Given the description of an element on the screen output the (x, y) to click on. 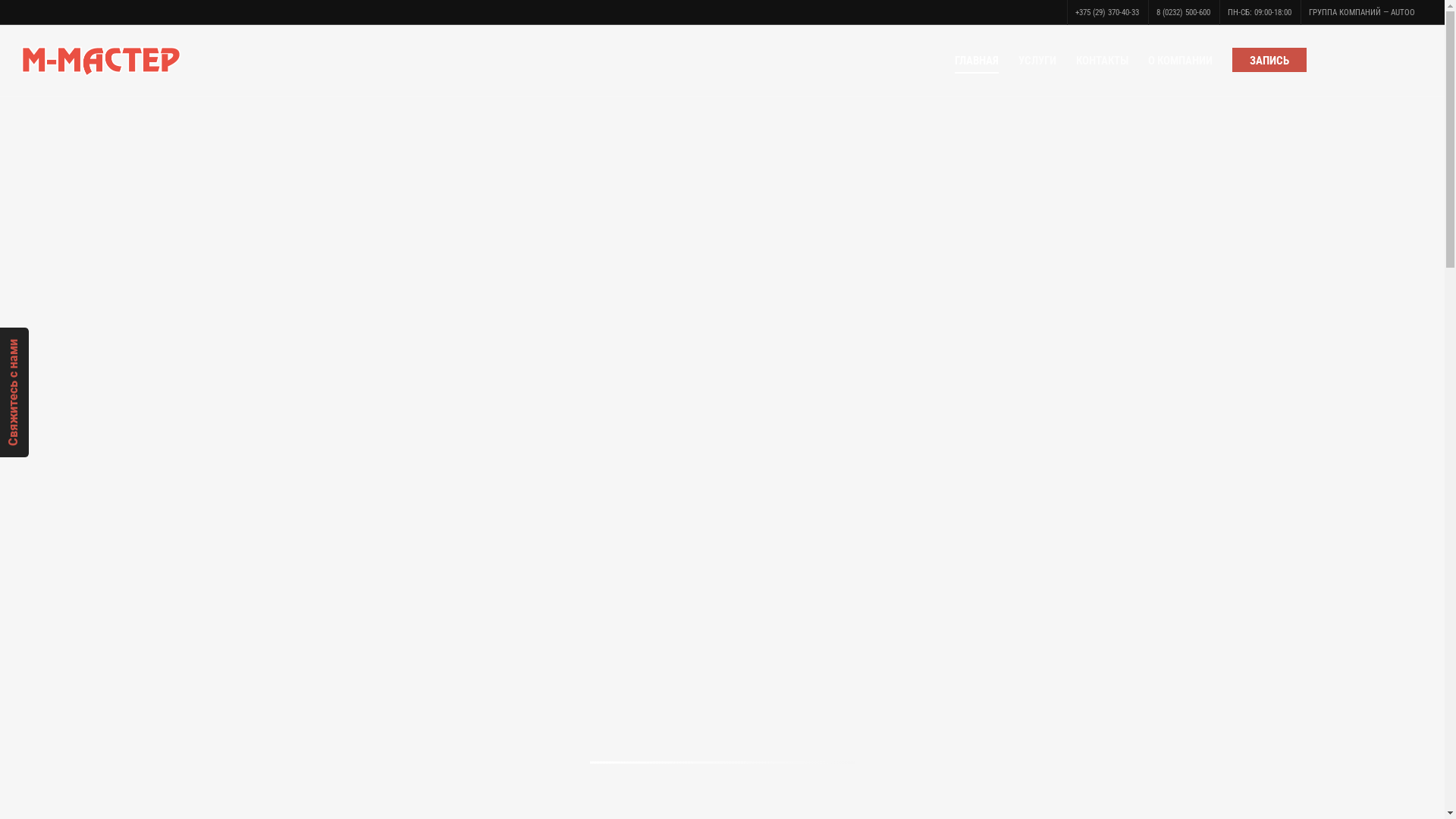
+375 (29) 370-40-33 Element type: text (1106, 12)
8 (0232) 500-600 Element type: text (1182, 12)
